Given the description of an element on the screen output the (x, y) to click on. 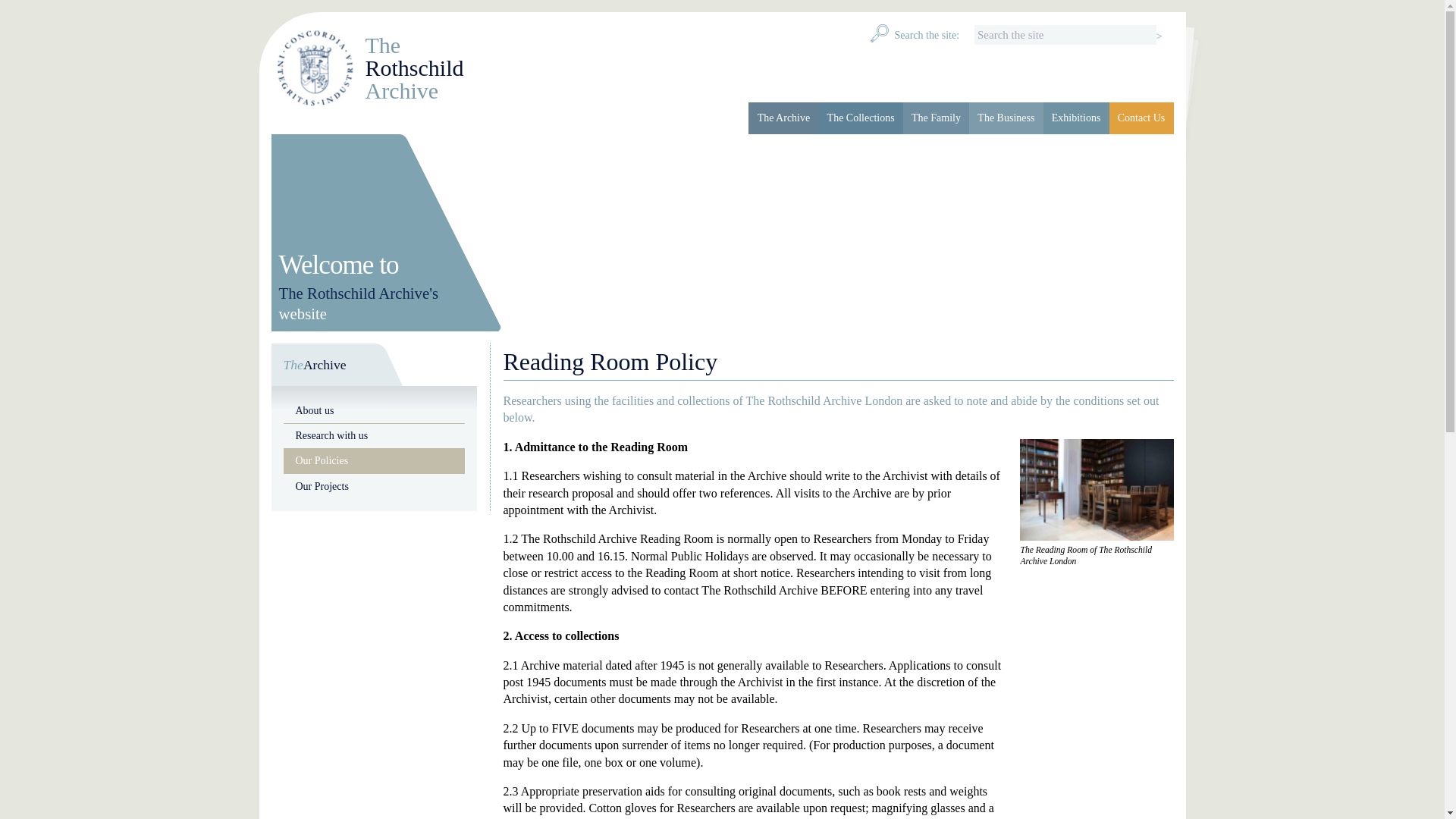
Our Projects (374, 485)
The Family (935, 118)
Back to The Rothschild Archive homepage (371, 68)
Exhibitions (1076, 118)
The Collections (860, 118)
About us (374, 410)
Research with us (371, 68)
Our Policies (374, 435)
Contact Us (374, 460)
